Given the description of an element on the screen output the (x, y) to click on. 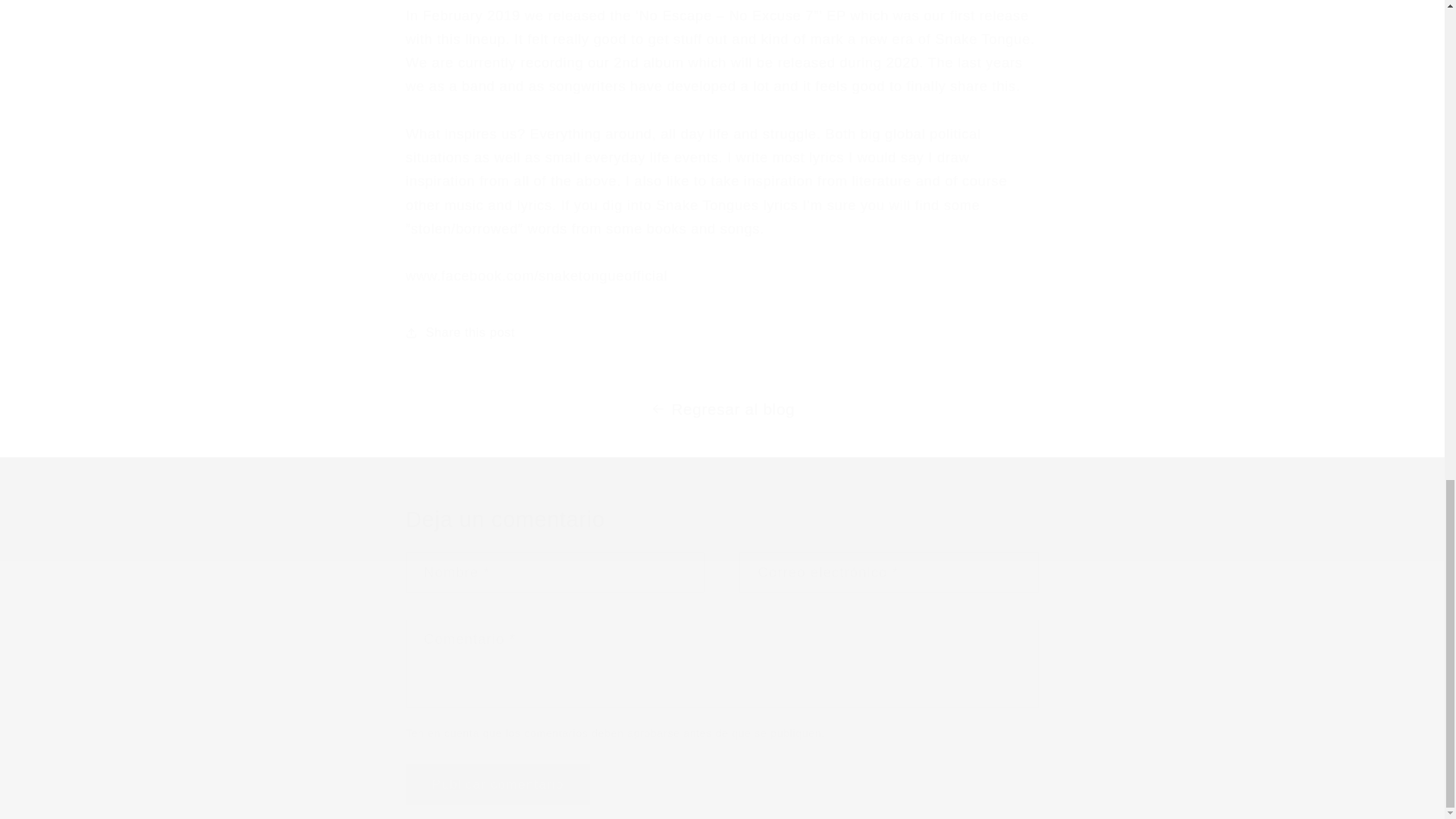
Share this post (722, 332)
Publicar comentario (497, 784)
